Given the description of an element on the screen output the (x, y) to click on. 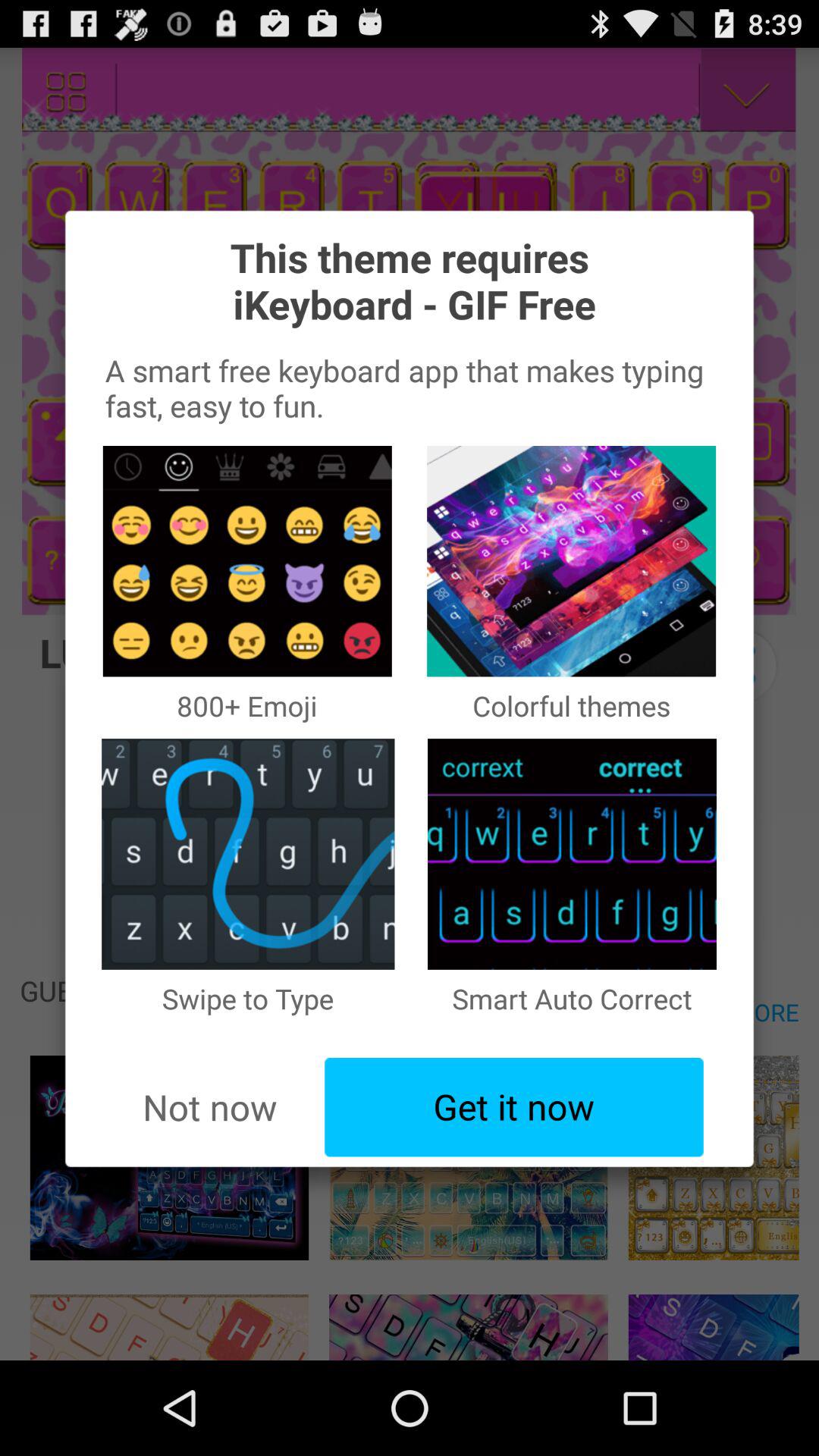
open the item to the right of the not now (513, 1106)
